Given the description of an element on the screen output the (x, y) to click on. 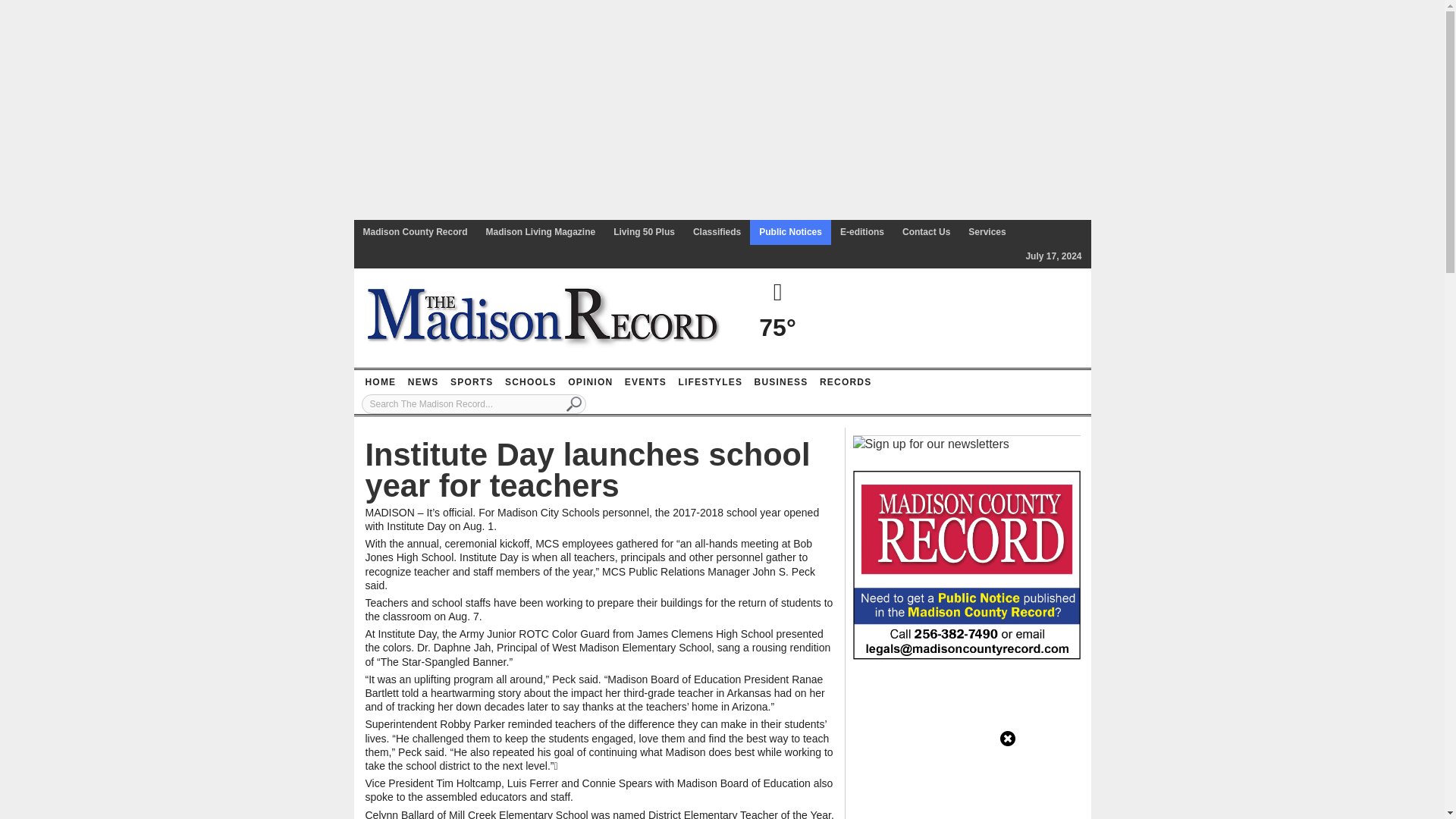
SCHOOLS (530, 381)
EVENTS (645, 381)
Sign up for our newsletters (930, 443)
RECORDS (845, 381)
Services (986, 232)
Public Notices (790, 232)
Go (574, 403)
Go (574, 403)
SPORTS (471, 381)
3rd party ad content (965, 746)
Search The Madison Record... (473, 403)
OPINION (589, 381)
Classifieds (716, 232)
BUSINESS (781, 381)
Contact Us (926, 232)
